Given the description of an element on the screen output the (x, y) to click on. 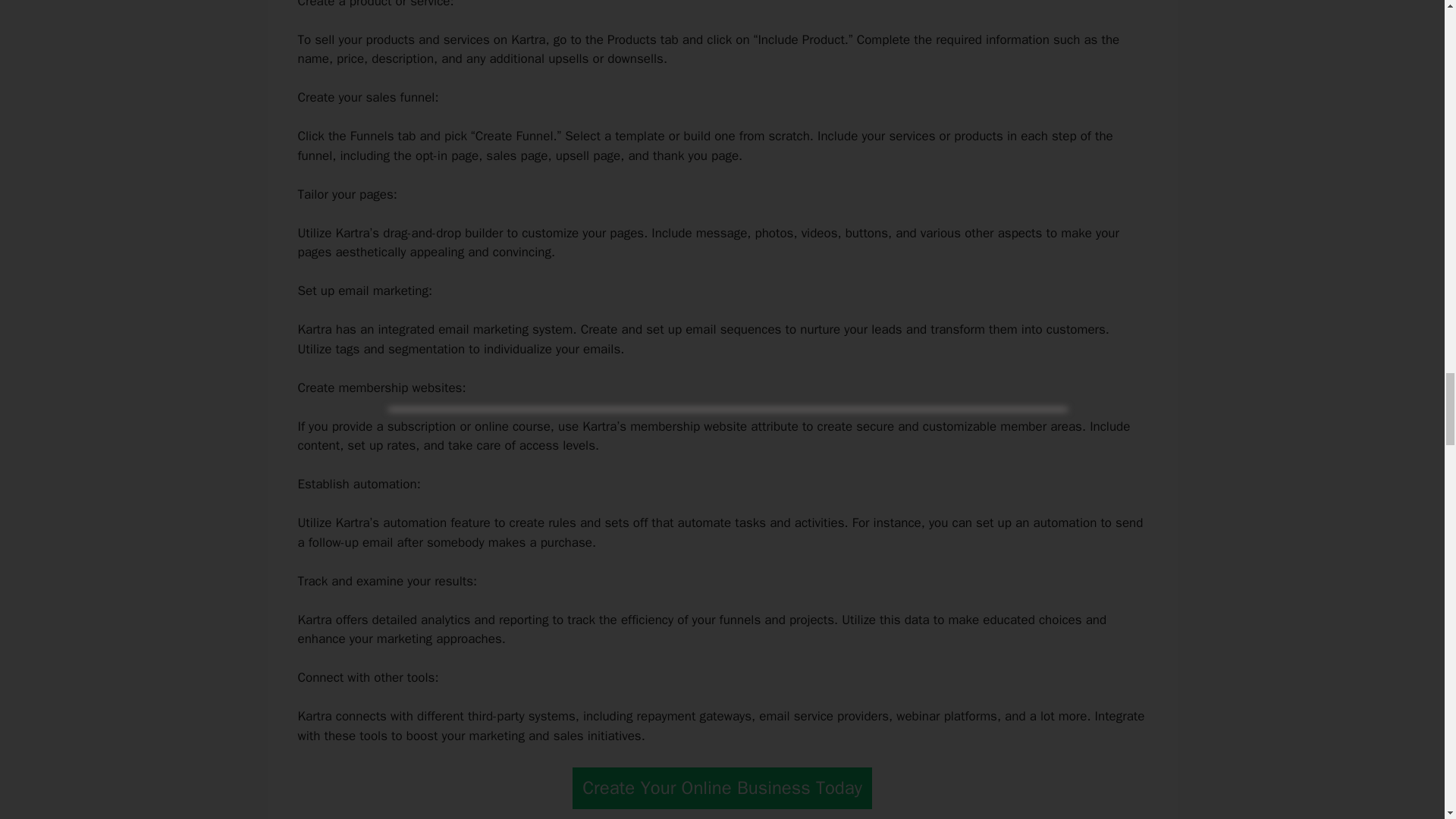
Create Your Online Business Today (722, 788)
